Given the description of an element on the screen output the (x, y) to click on. 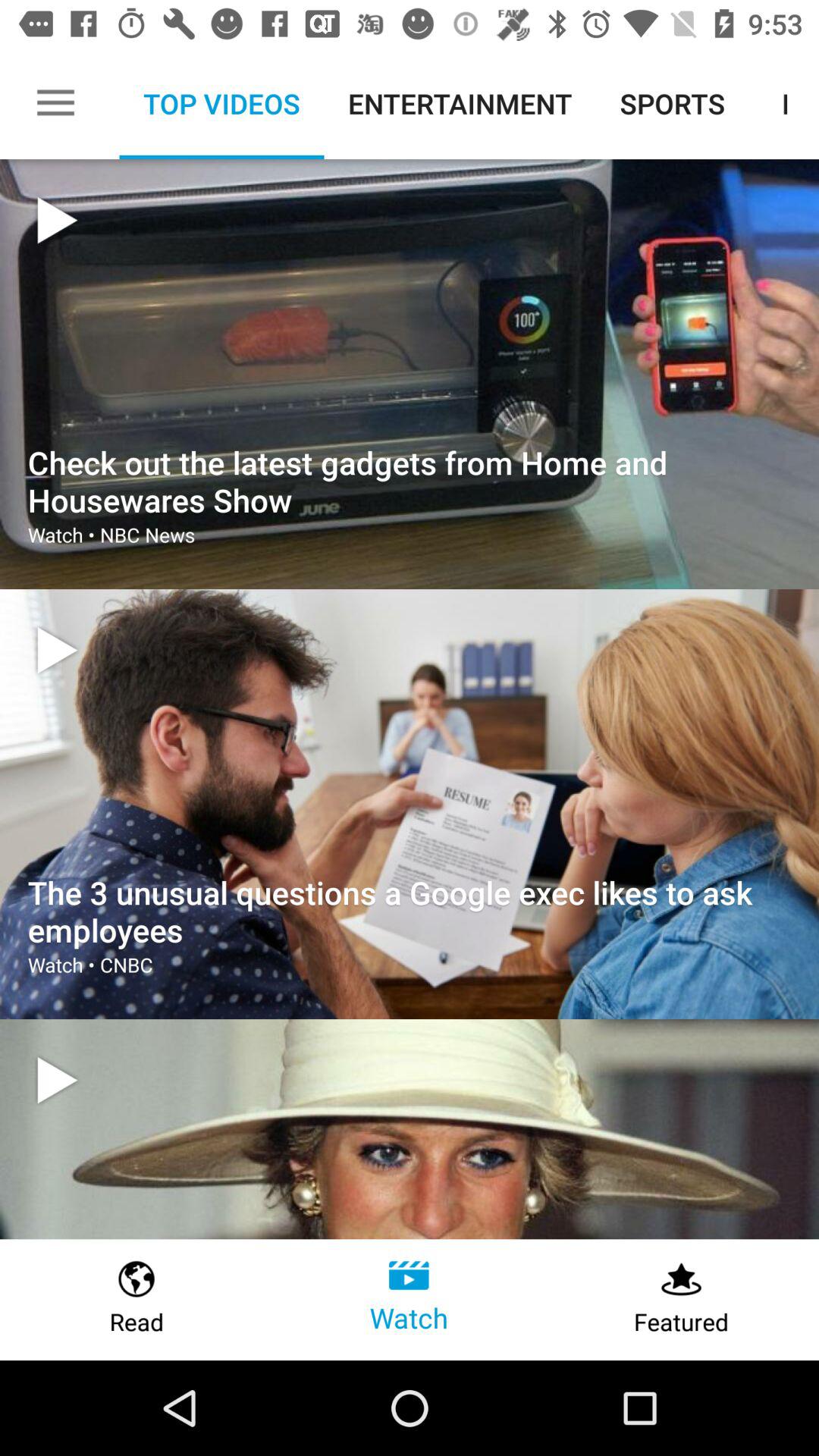
play the video (56, 1079)
